Given the description of an element on the screen output the (x, y) to click on. 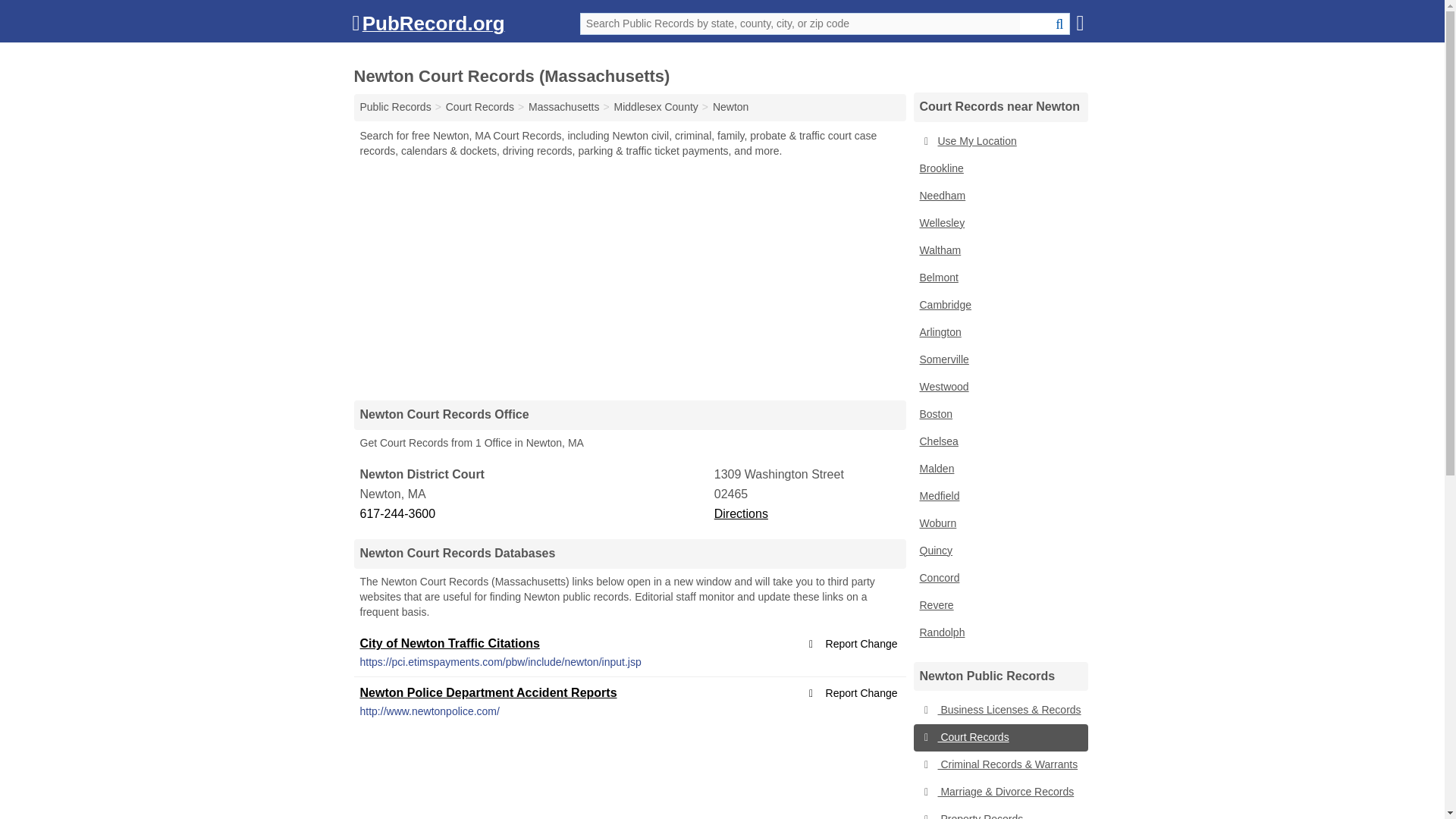
Public Records - PubRecords.org (394, 106)
617-244-3600 (534, 514)
Malden (999, 469)
Needham (999, 195)
Belmont (999, 277)
Free Court Records (479, 106)
Directions (741, 513)
Newton Police Department Accident Reports (487, 692)
City of Newton Traffic Citations (448, 643)
Newton (730, 106)
Arlington (999, 332)
Middlesex County (656, 106)
Chelsea (999, 441)
Advertisement (629, 278)
PubRecord.org (427, 26)
